Given the description of an element on the screen output the (x, y) to click on. 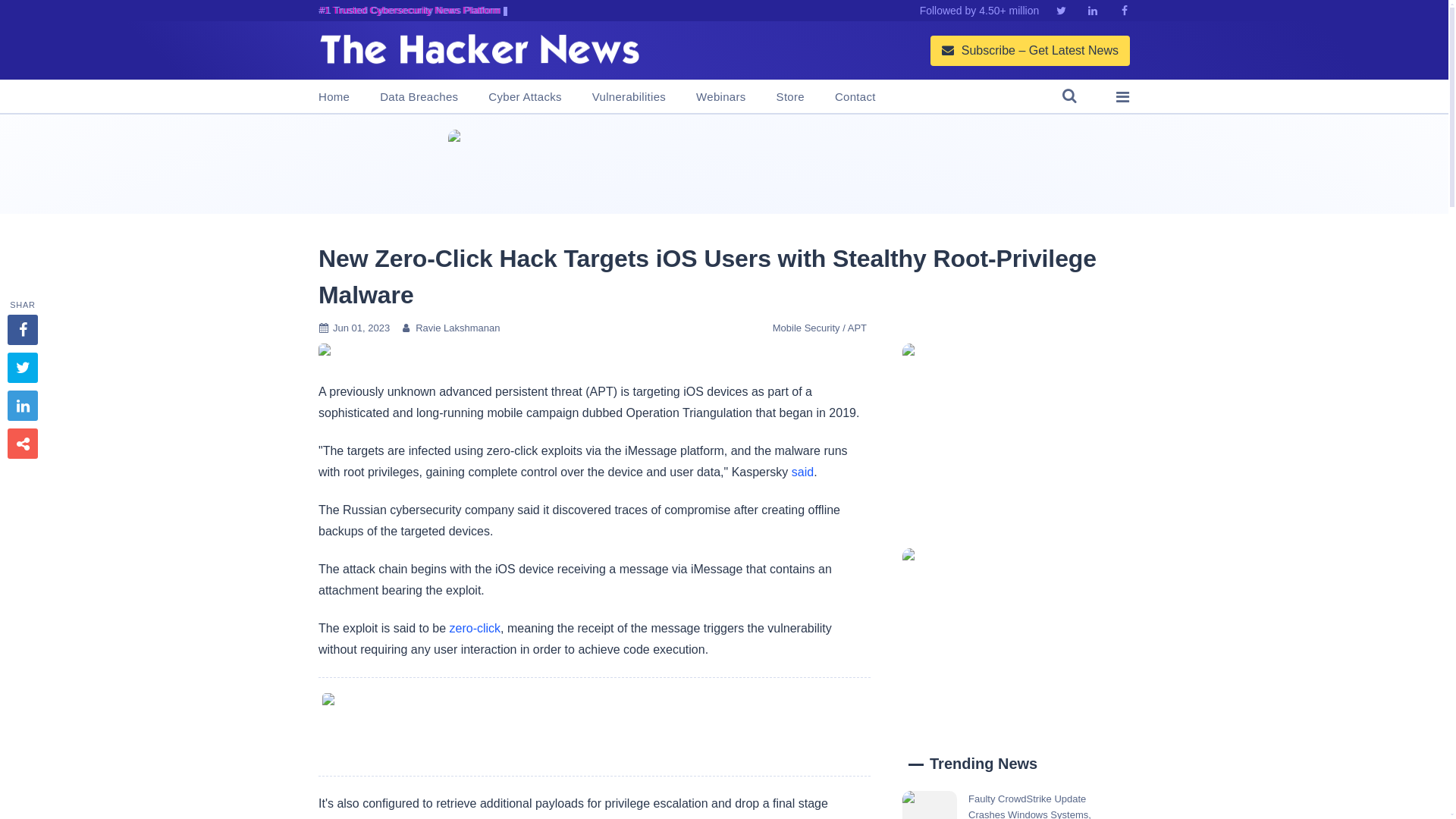
Home (333, 96)
Cyber Attacks (523, 96)
said (802, 472)
Vulnerabilities (628, 96)
zero-click (474, 627)
Insider Risk Management (723, 164)
Cybersecurity (593, 726)
Contact (855, 96)
Data Breaches (419, 96)
Webinars (720, 96)
